Given the description of an element on the screen output the (x, y) to click on. 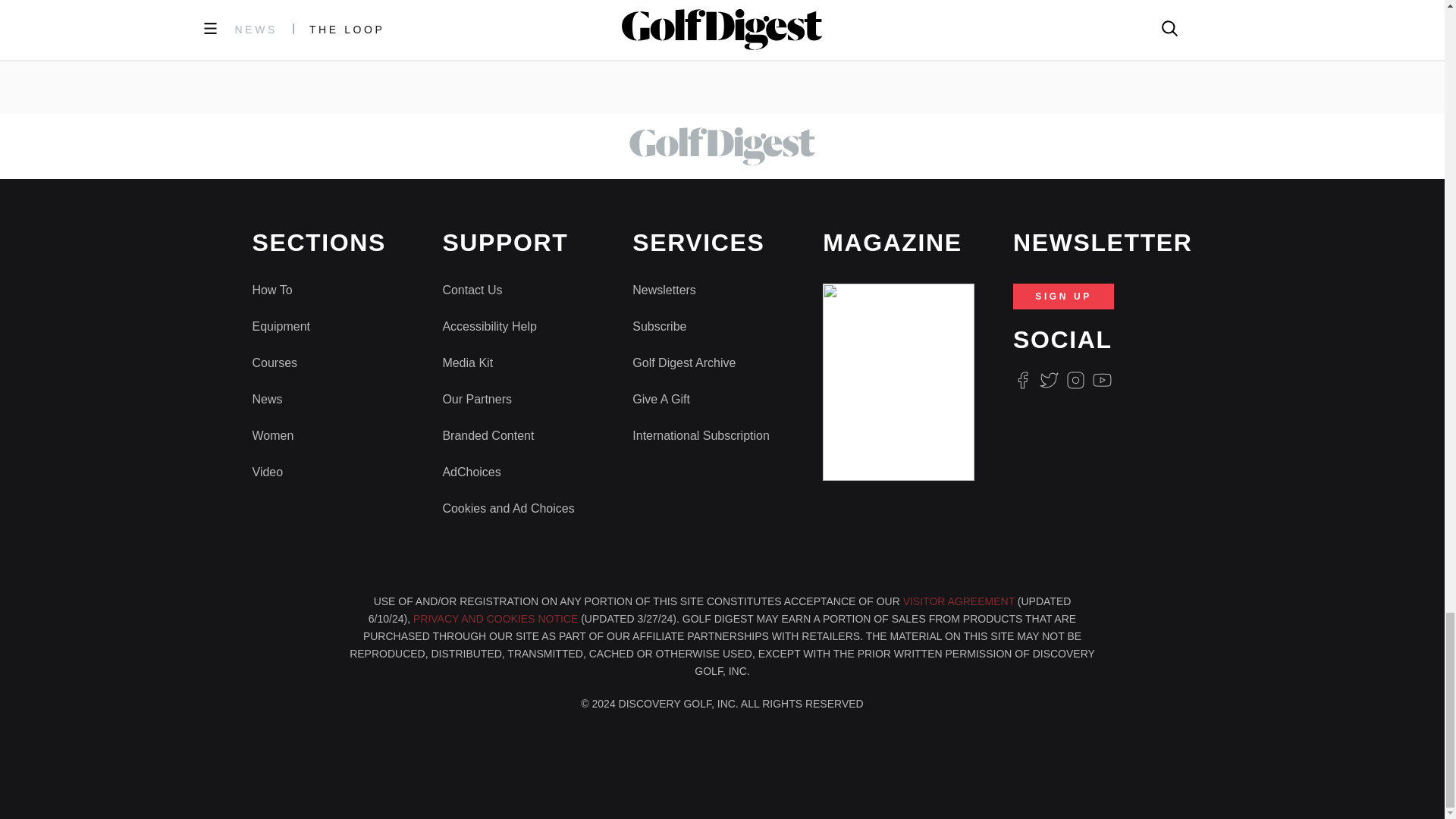
Instagram Logo (1074, 380)
Twitter Logo (1048, 380)
Facebook Logo (1022, 380)
Youtube Icon (1102, 380)
